Given the description of an element on the screen output the (x, y) to click on. 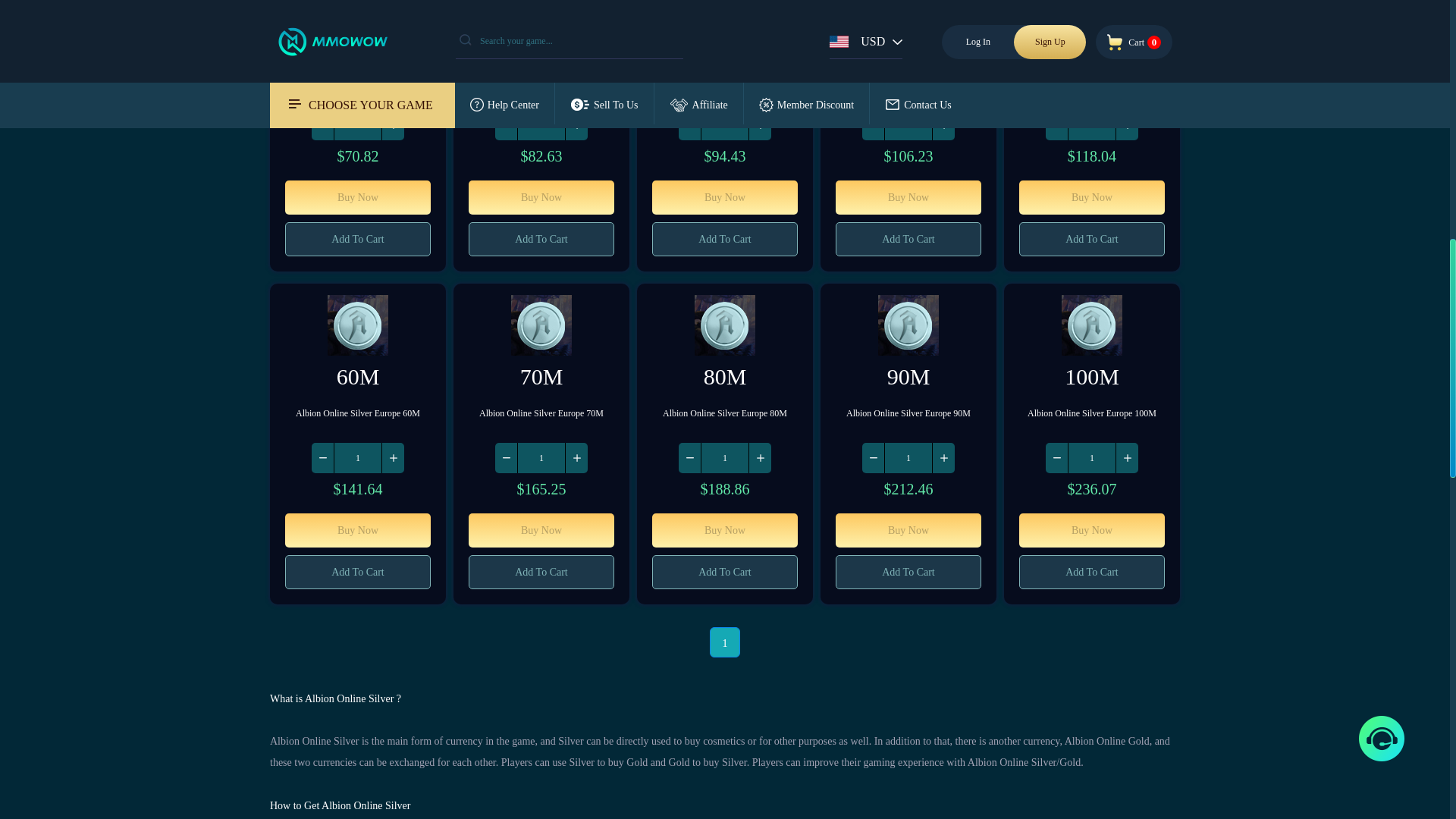
1 (541, 124)
1 (357, 124)
1 (357, 458)
1 (908, 458)
1 (908, 124)
1 (1091, 458)
1 (724, 458)
1 (724, 124)
1 (541, 458)
1 (1091, 124)
